Given the description of an element on the screen output the (x, y) to click on. 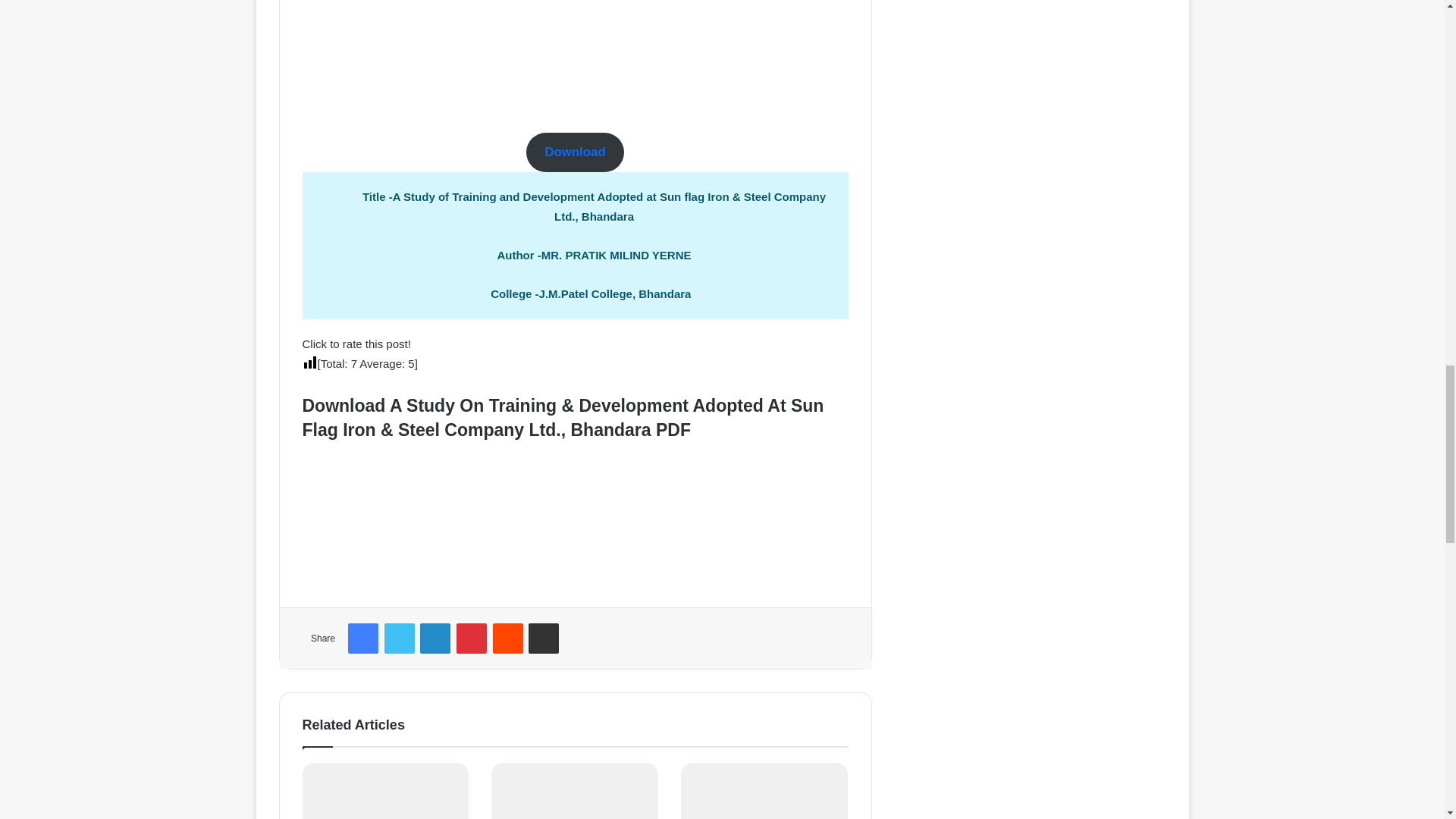
LinkedIn (434, 638)
Share via Email (543, 638)
Twitter (399, 638)
Facebook (362, 638)
Pinterest (471, 638)
Reddit (507, 638)
